Given the description of an element on the screen output the (x, y) to click on. 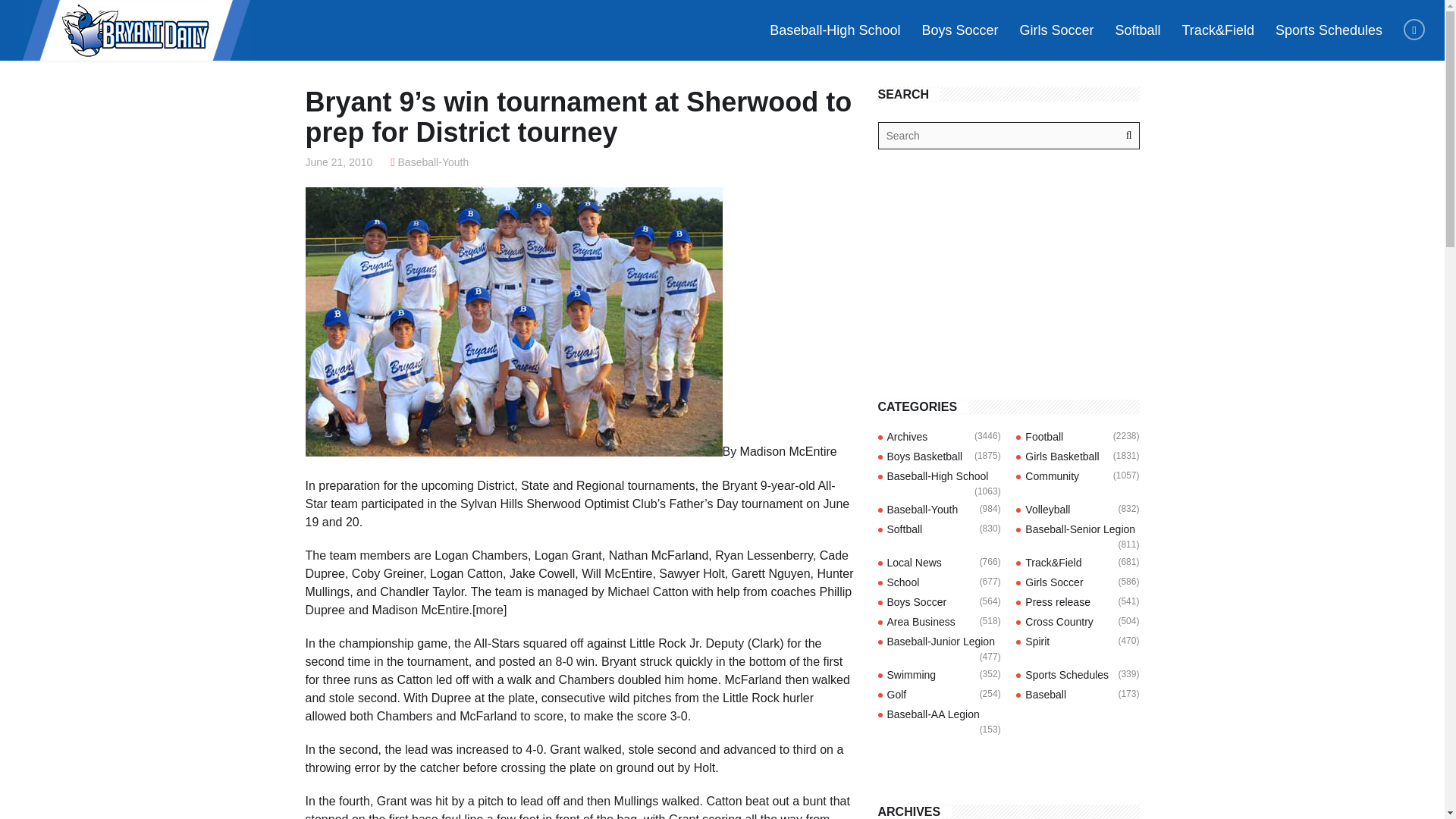
Volleyball (1047, 509)
Softball (904, 529)
Local News (914, 562)
Baseball-Youth (922, 509)
Baseball-High School (937, 476)
Girls Basketball (1062, 456)
Baseball-Youth (432, 162)
Girls Soccer (1055, 30)
Sports Schedules (1329, 30)
Boys Basketball (924, 456)
